Given the description of an element on the screen output the (x, y) to click on. 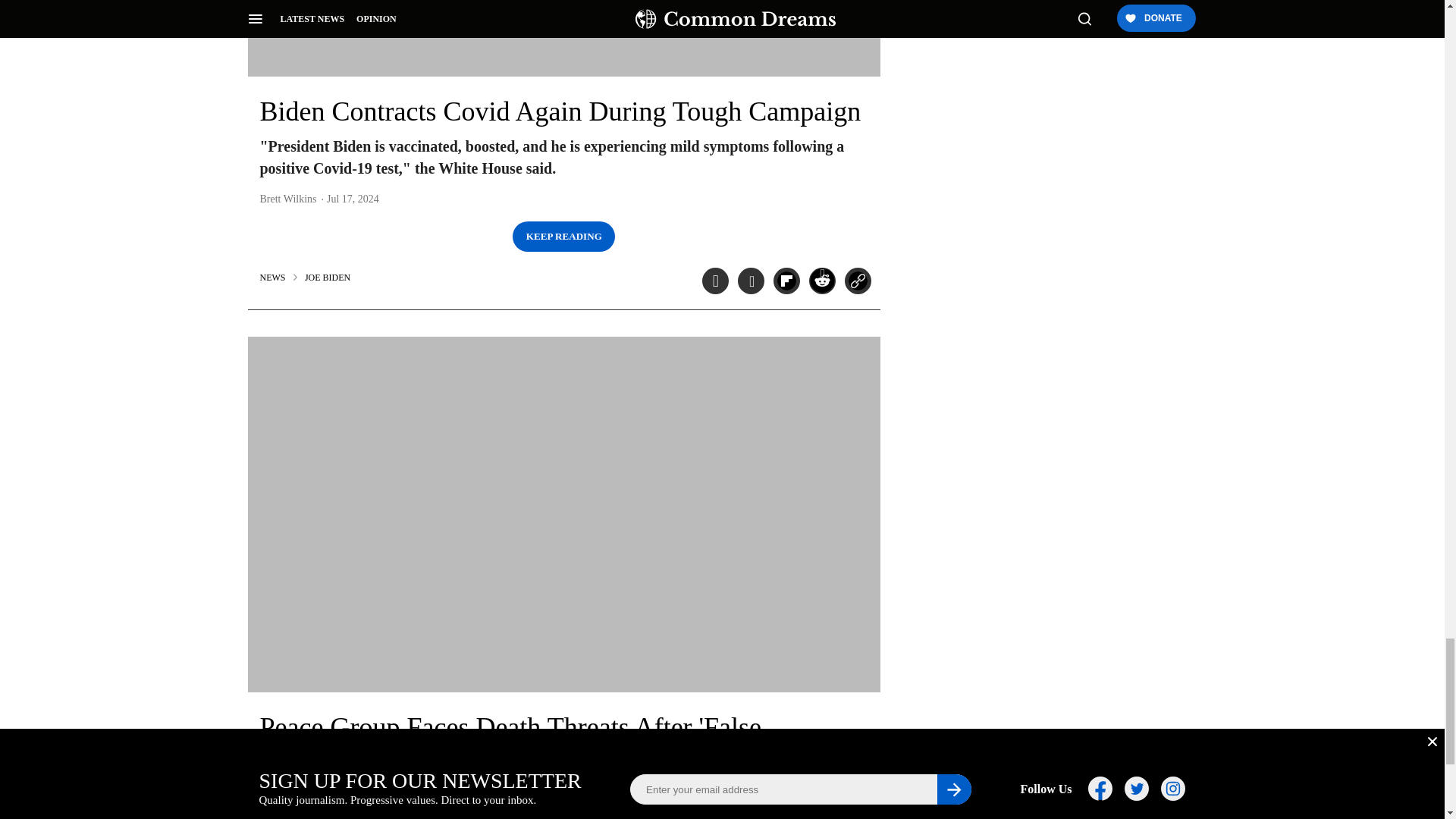
Copy this link to clipboard (857, 280)
